Given the description of an element on the screen output the (x, y) to click on. 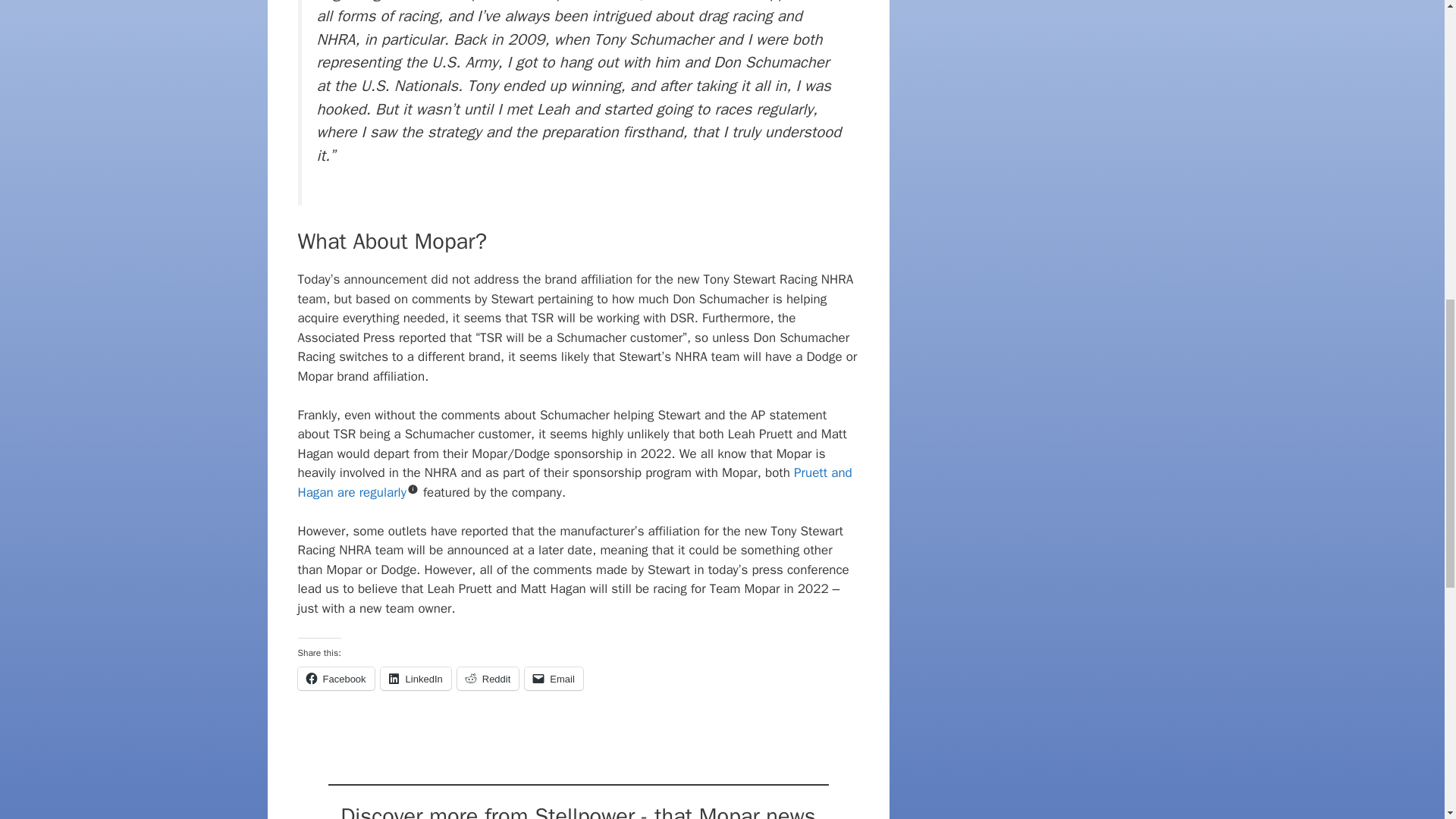
LinkedIn (415, 678)
Facebook (335, 678)
Click to share on Facebook (335, 678)
Email (553, 678)
Pruett and Hagan are regularly (574, 482)
Click to email a link to a friend (553, 678)
Click to share on LinkedIn (415, 678)
Click to share on Reddit (488, 678)
Reddit (488, 678)
